Given the description of an element on the screen output the (x, y) to click on. 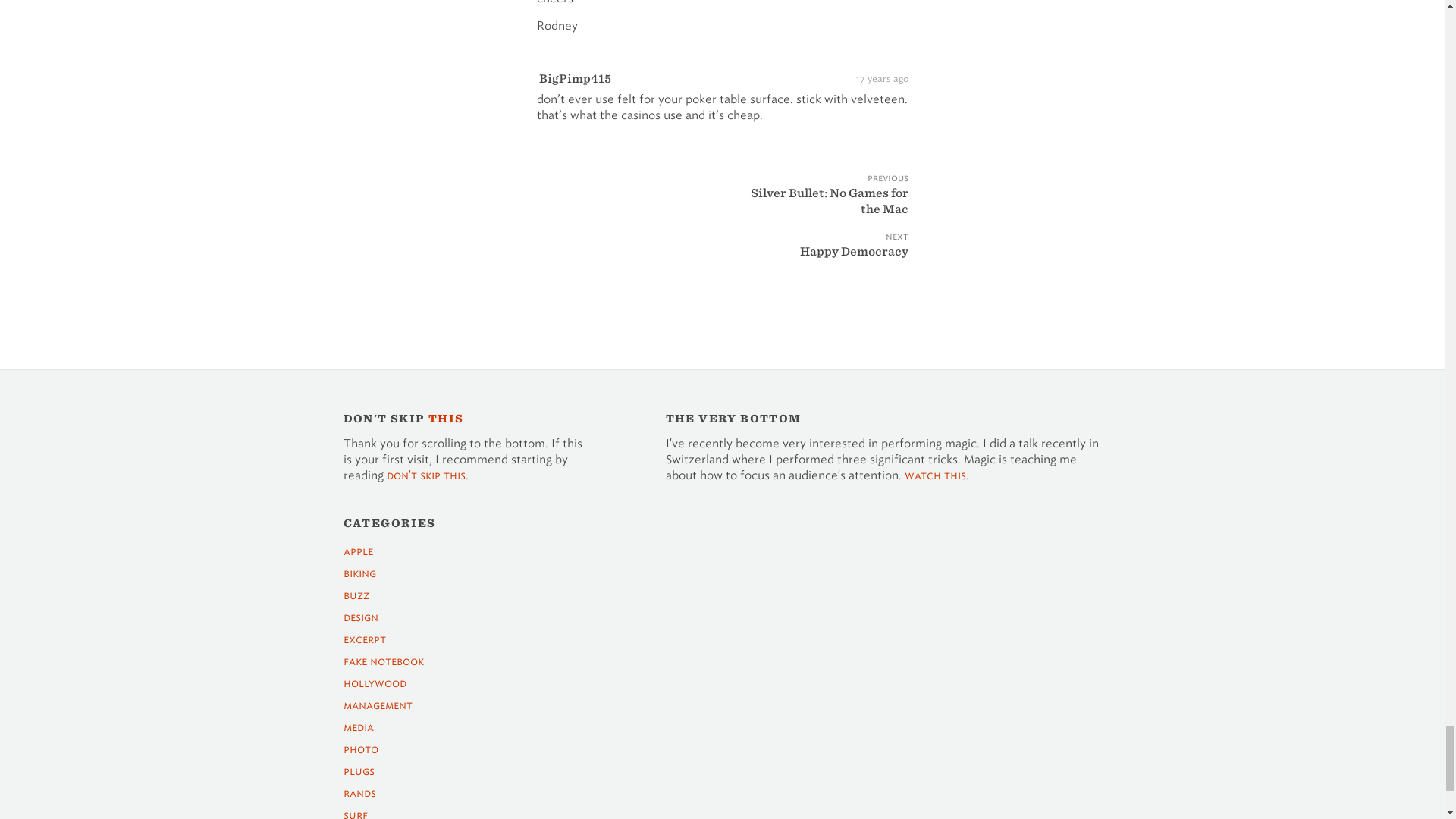
Happy Democracy (818, 262)
Silver Bullet: No Games for the Mac (818, 211)
17 years ago (881, 78)
